Given the description of an element on the screen output the (x, y) to click on. 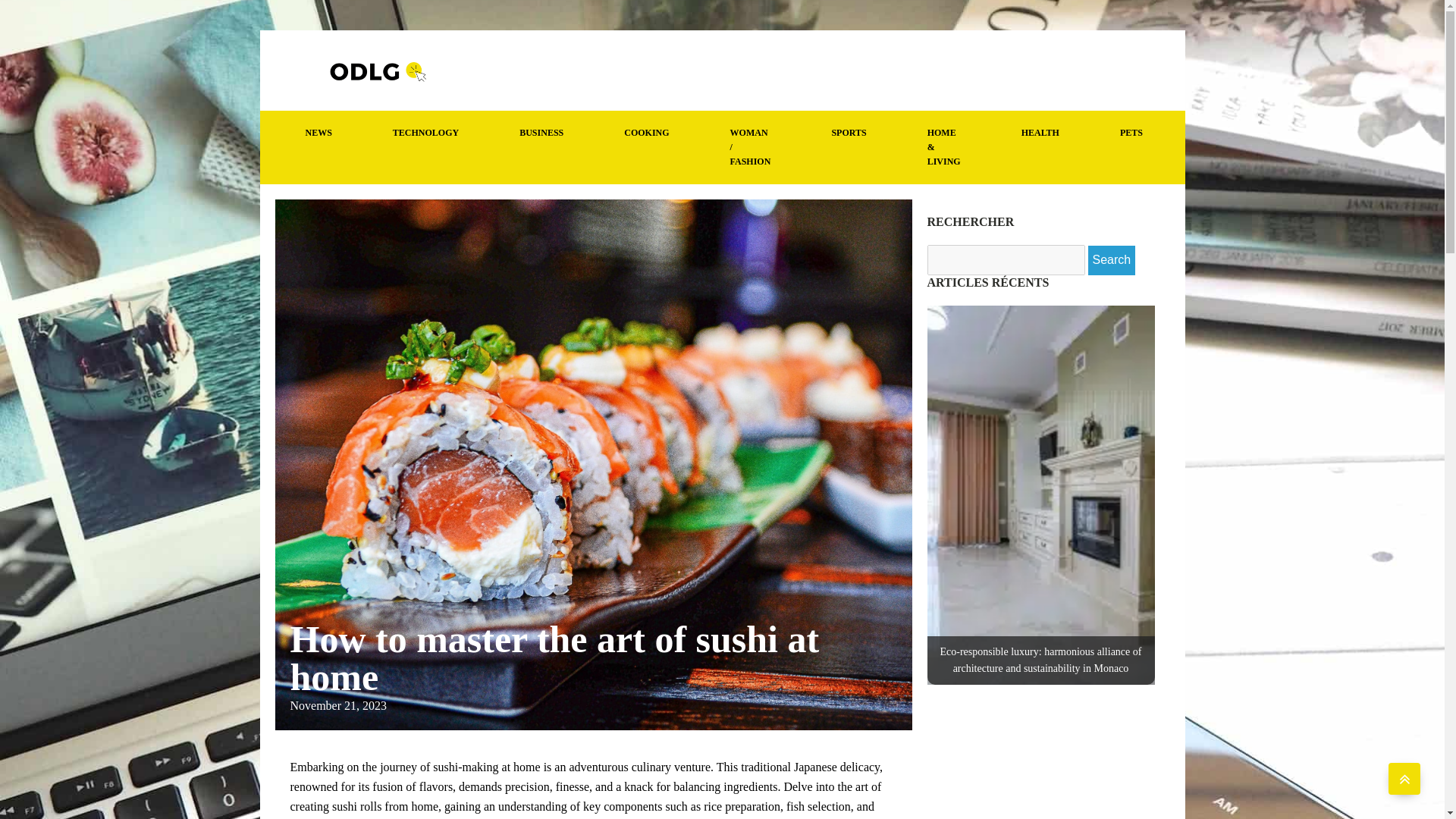
COOKING (646, 132)
SPORTS (848, 132)
NEWS (318, 132)
BUSINESS (541, 132)
TECHNOLOGY (425, 132)
